Given the description of an element on the screen output the (x, y) to click on. 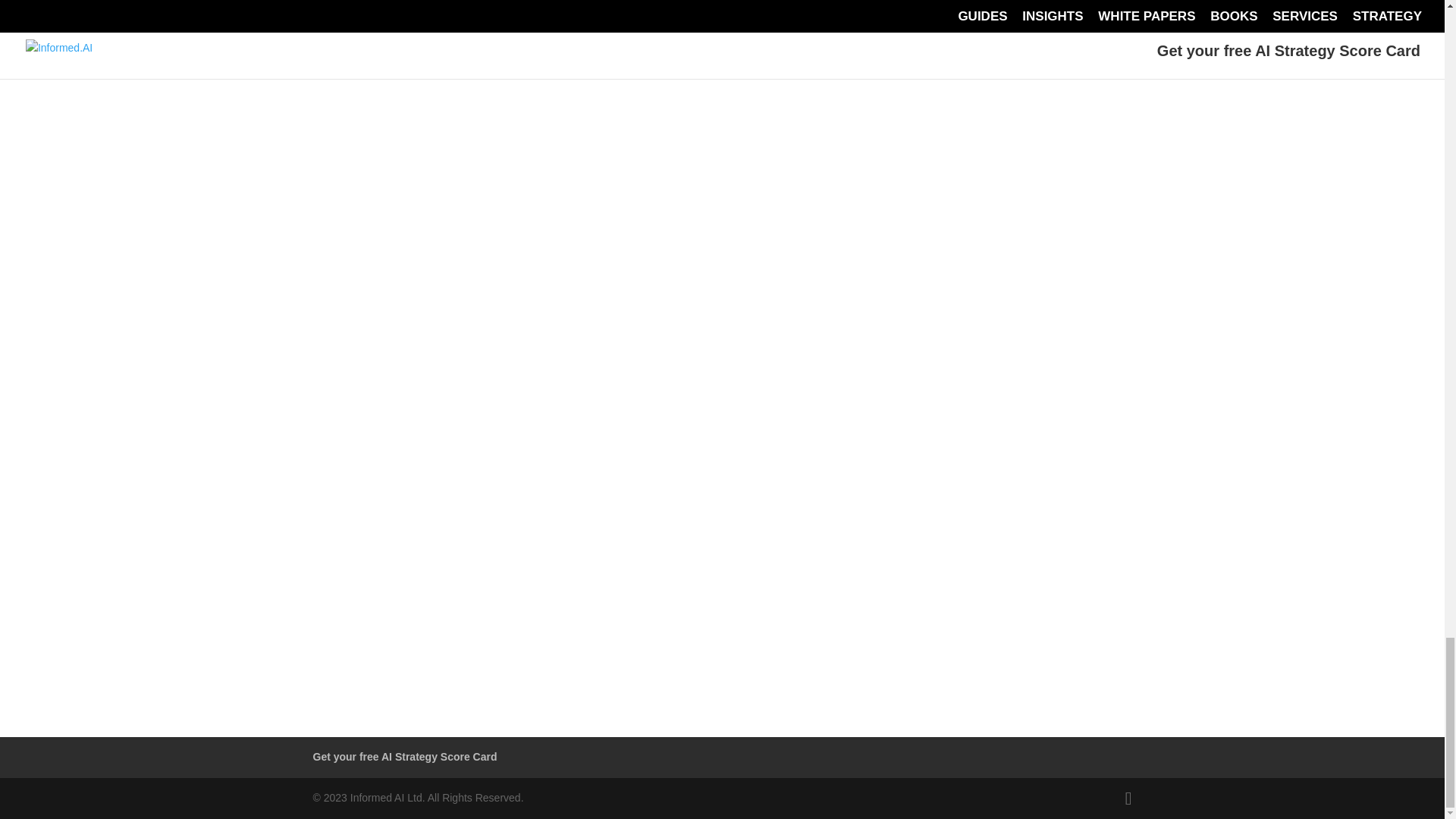
Get your free AI Strategy Score Card (404, 756)
